Given the description of an element on the screen output the (x, y) to click on. 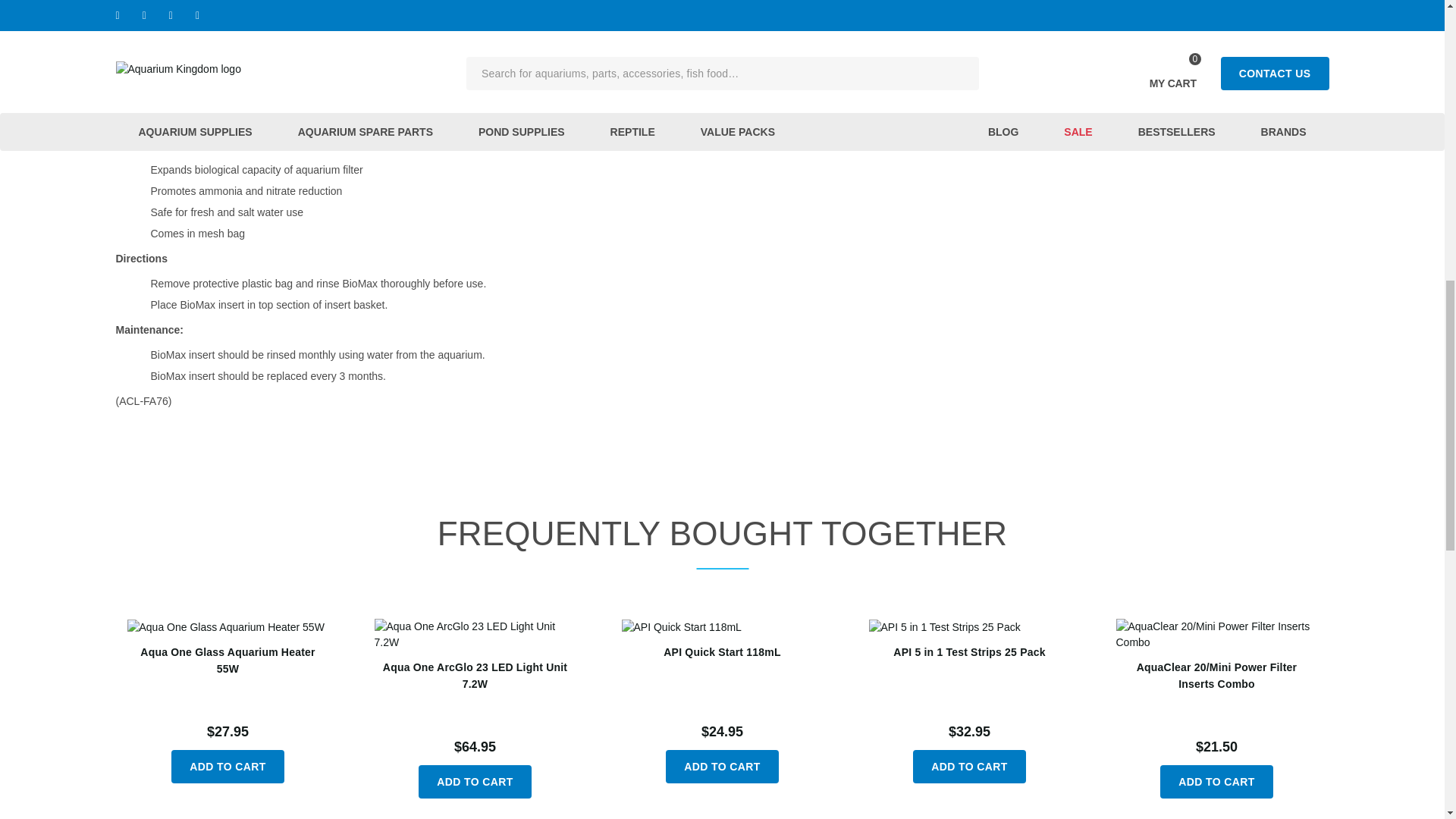
Add API Quick Start 118mL to Cart (721, 766)
Add Aqua One ArcGlo 23 LED Light Unit 7.2W to Cart (475, 781)
Add API 5 in 1 Test Strips 25 Pack to Cart (969, 766)
Add Aqua One Glass Aquarium Heater 55W to Cart (227, 766)
